Given the description of an element on the screen output the (x, y) to click on. 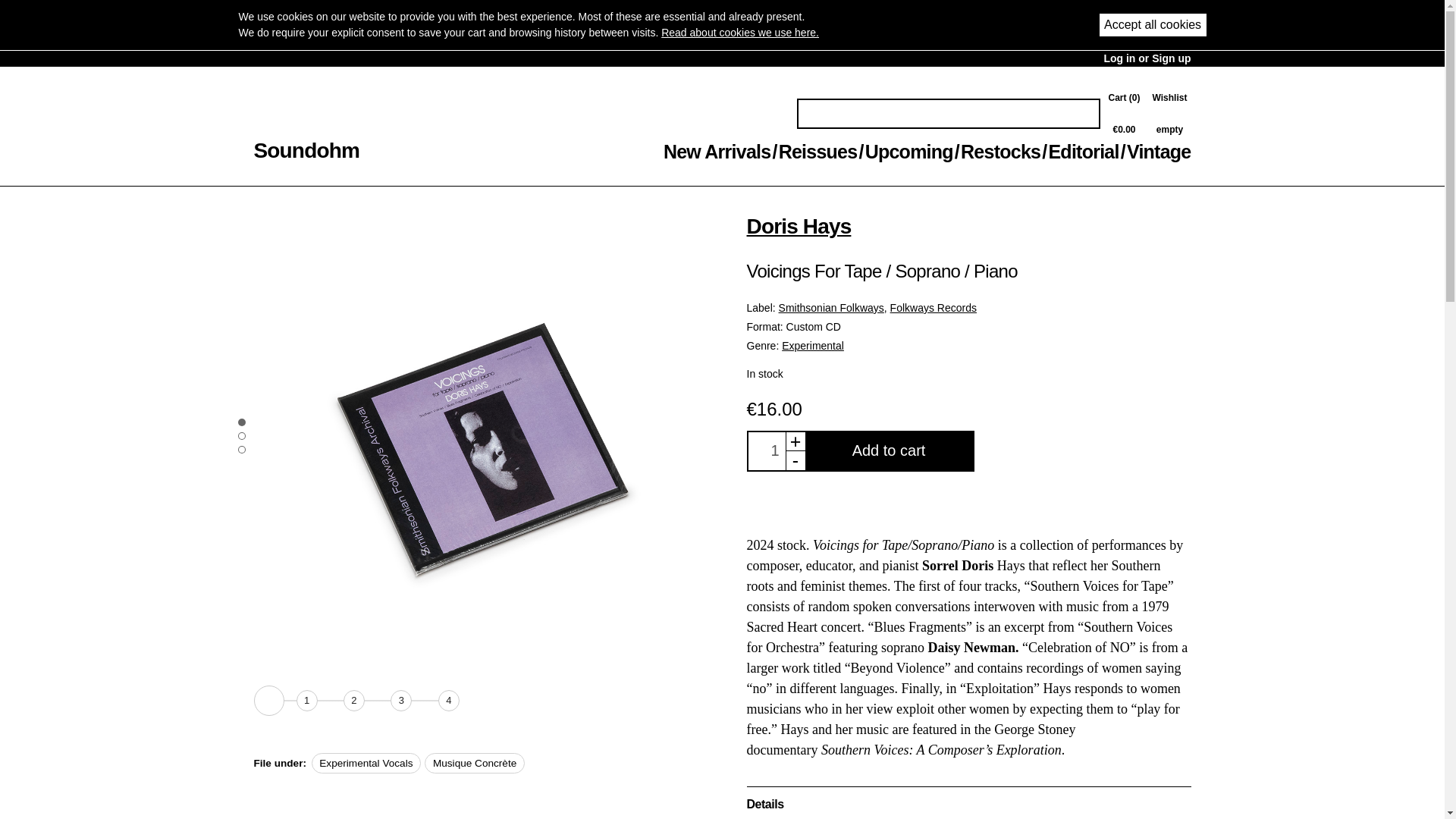
Play excerpts (268, 700)
New Arrivals (717, 151)
1 (767, 451)
Accept all cookies (1153, 24)
Log in or Sign up (1146, 58)
Reissues (817, 151)
Upcoming (908, 151)
Vintage (1158, 151)
Editorial (1083, 151)
Soundohm (305, 150)
